Given the description of an element on the screen output the (x, y) to click on. 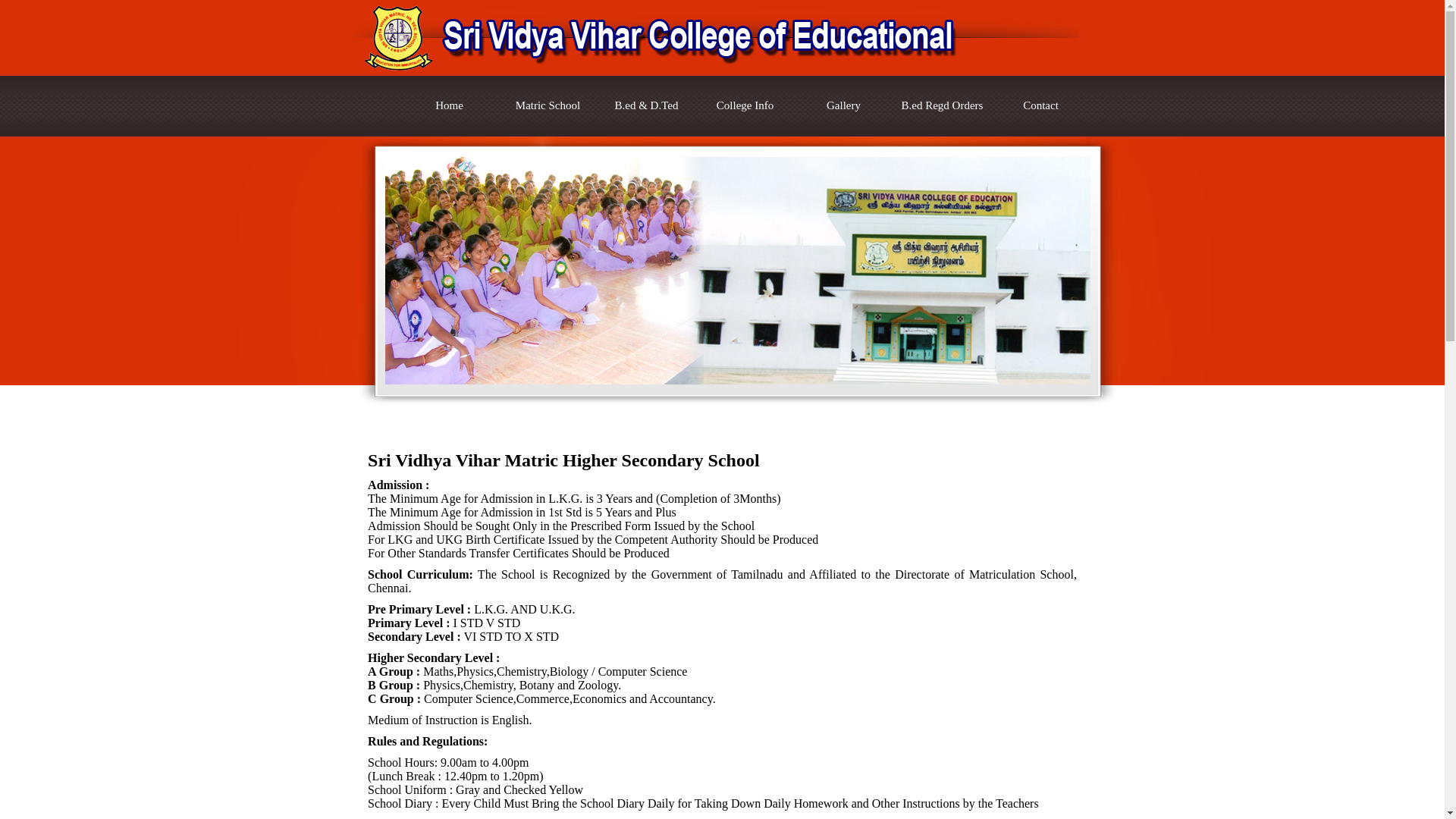
3 (628, 415)
College Info (744, 106)
Home (449, 106)
1 (590, 415)
Matric School (547, 106)
4 (647, 415)
Contact (1040, 106)
2 (608, 415)
B.ed Regd Orders (941, 106)
Gallery (842, 106)
